Given the description of an element on the screen output the (x, y) to click on. 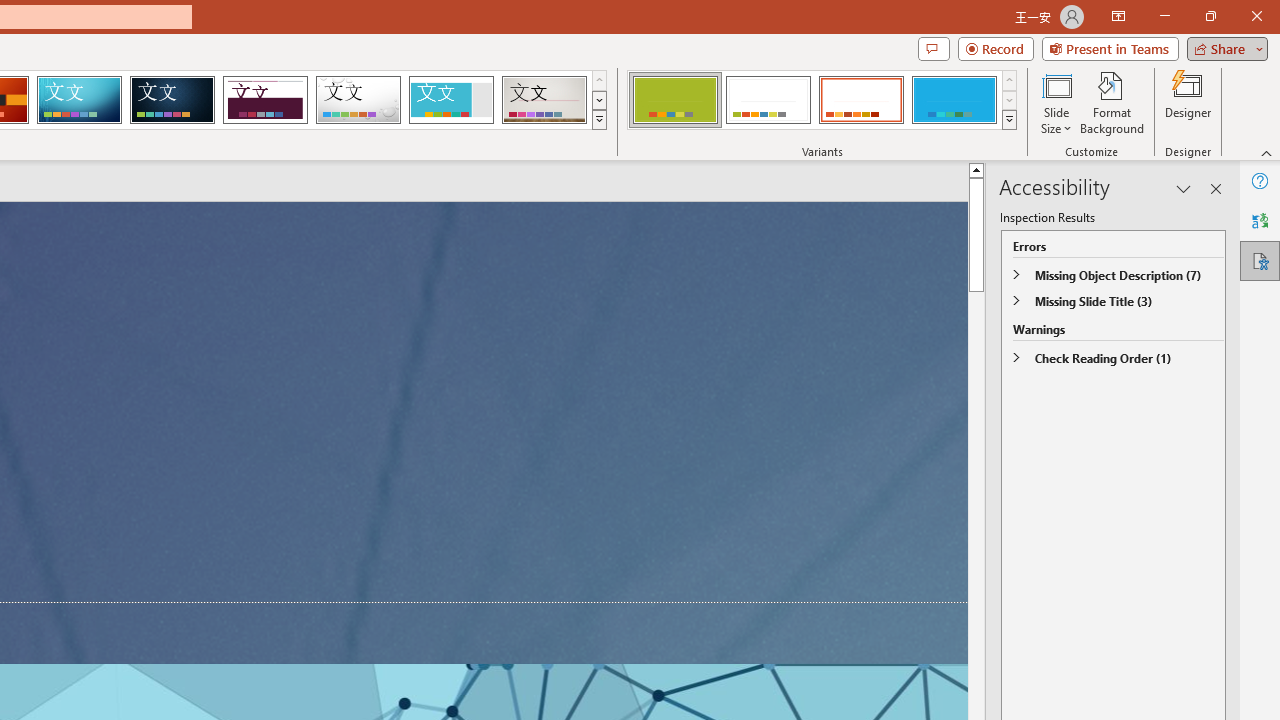
Dividend (265, 100)
Basis Variant 2 (768, 100)
